Given the description of an element on the screen output the (x, y) to click on. 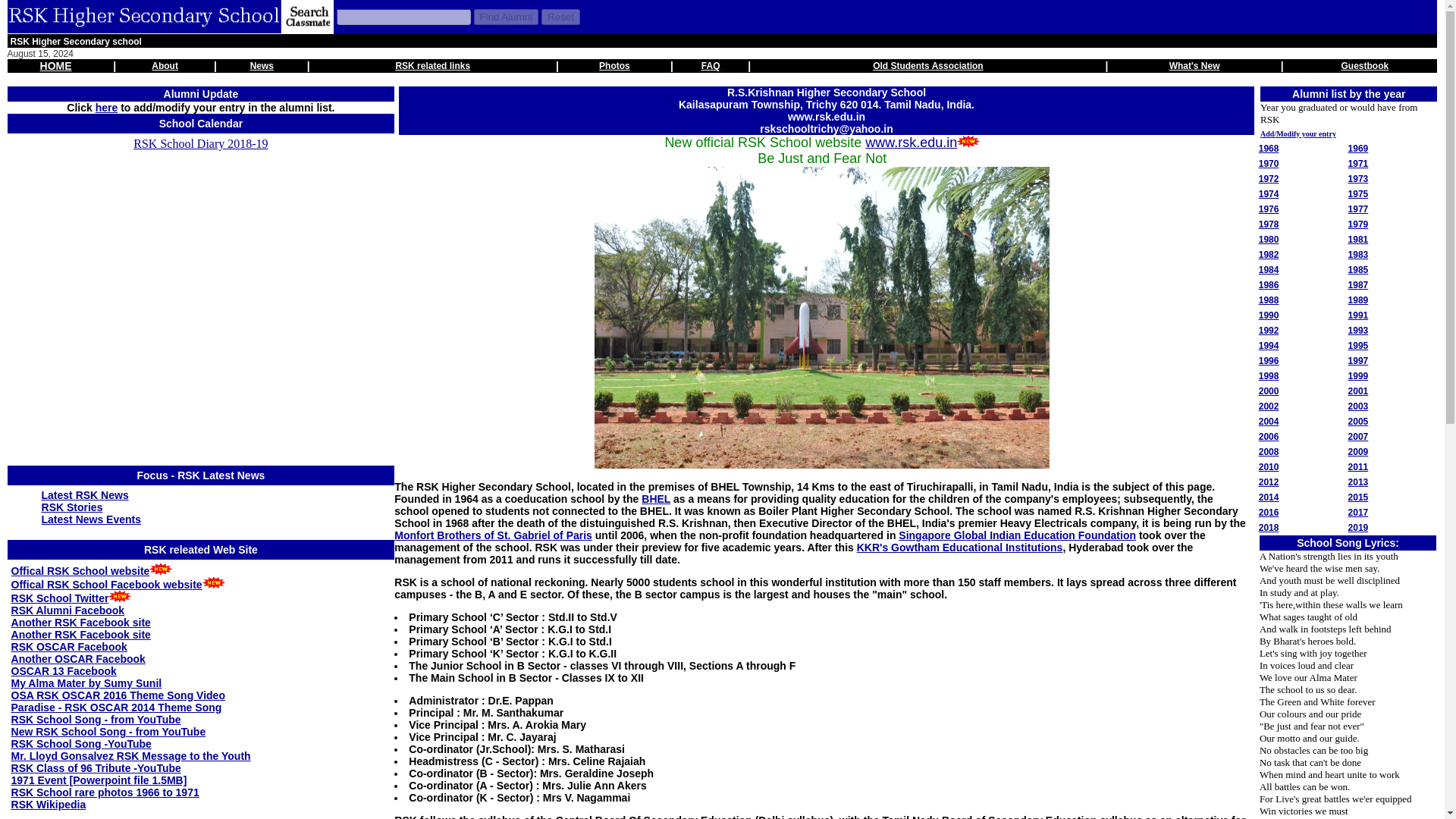
here (106, 107)
Guestbook (1364, 65)
HOME (55, 65)
RSK School Song -YouTube (81, 743)
BHEL (655, 499)
KKR's Gowtham Educational Institutions (959, 547)
Reset (560, 17)
Latest RSK News (85, 494)
Another RSK Facebook site (81, 634)
Old Students Association (928, 65)
